Given the description of an element on the screen output the (x, y) to click on. 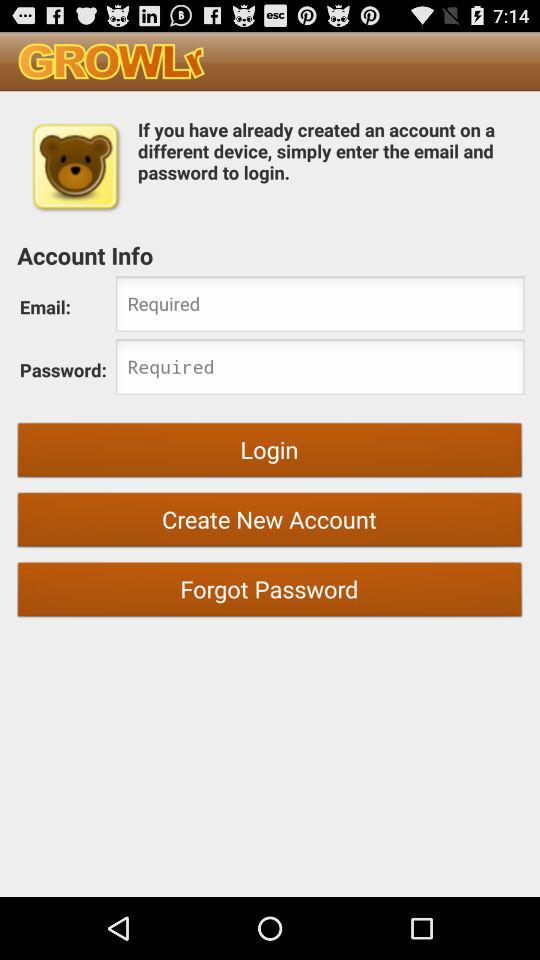
input field for email address (319, 306)
